Given the description of an element on the screen output the (x, y) to click on. 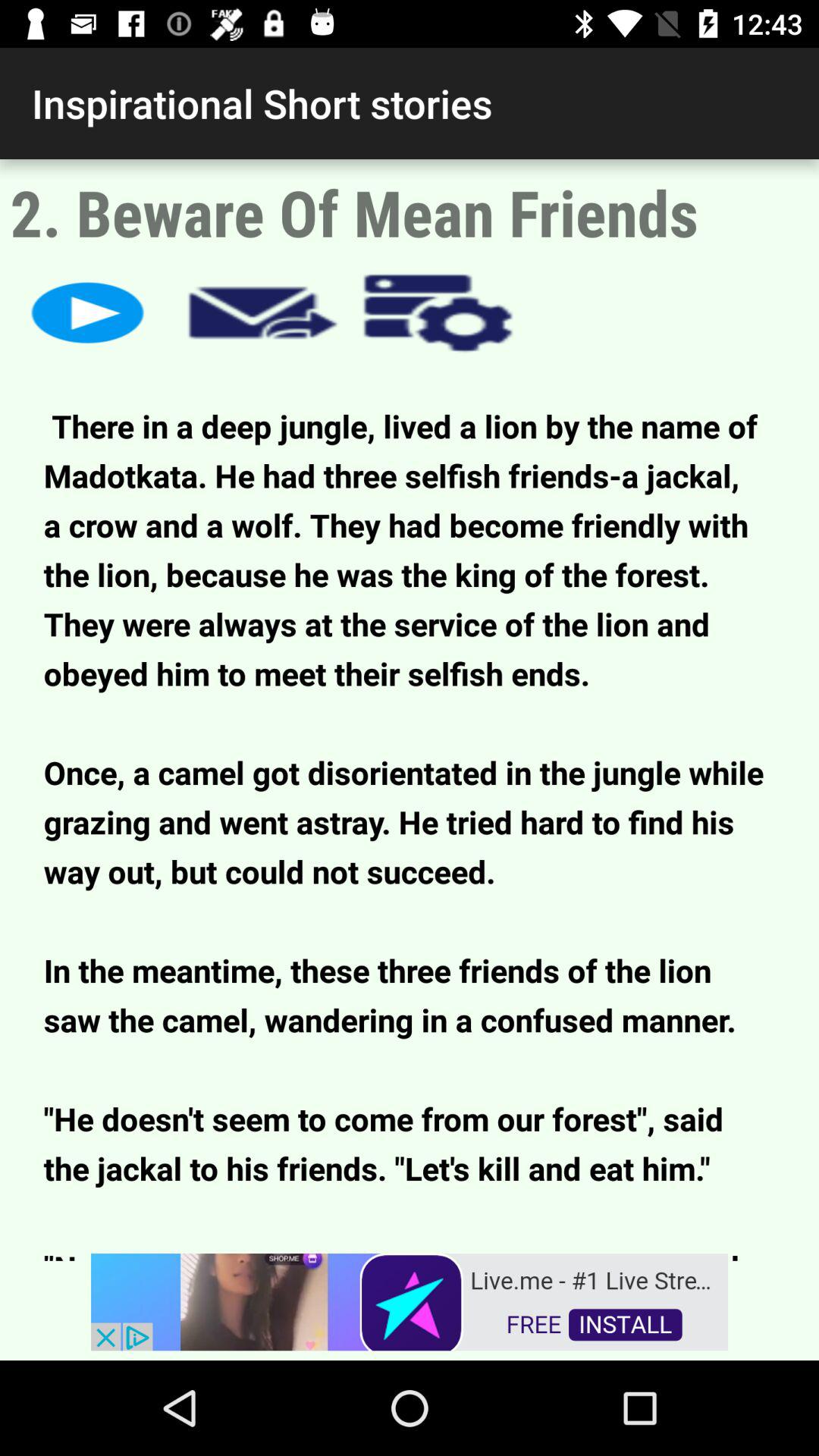
advertisement page (409, 1300)
